Given the description of an element on the screen output the (x, y) to click on. 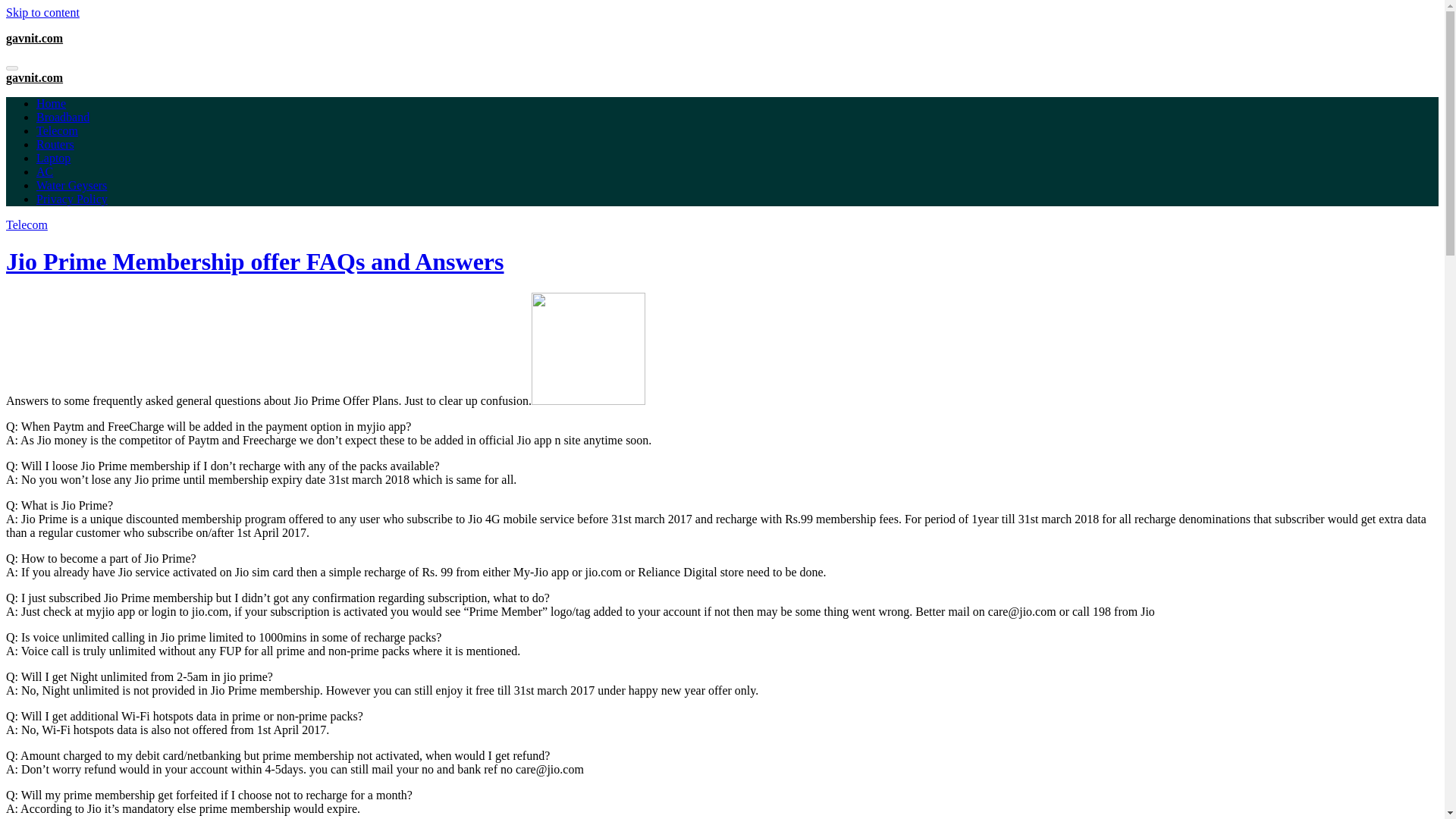
Telecom (57, 130)
Water Geysers (71, 185)
AC (44, 171)
Jio Prime Membership offer FAQs and Answers (254, 261)
Routers (55, 144)
Home (50, 103)
Laptop (52, 157)
Water Geysers (71, 185)
Laptop (52, 157)
Privacy Policy (71, 198)
